Given the description of an element on the screen output the (x, y) to click on. 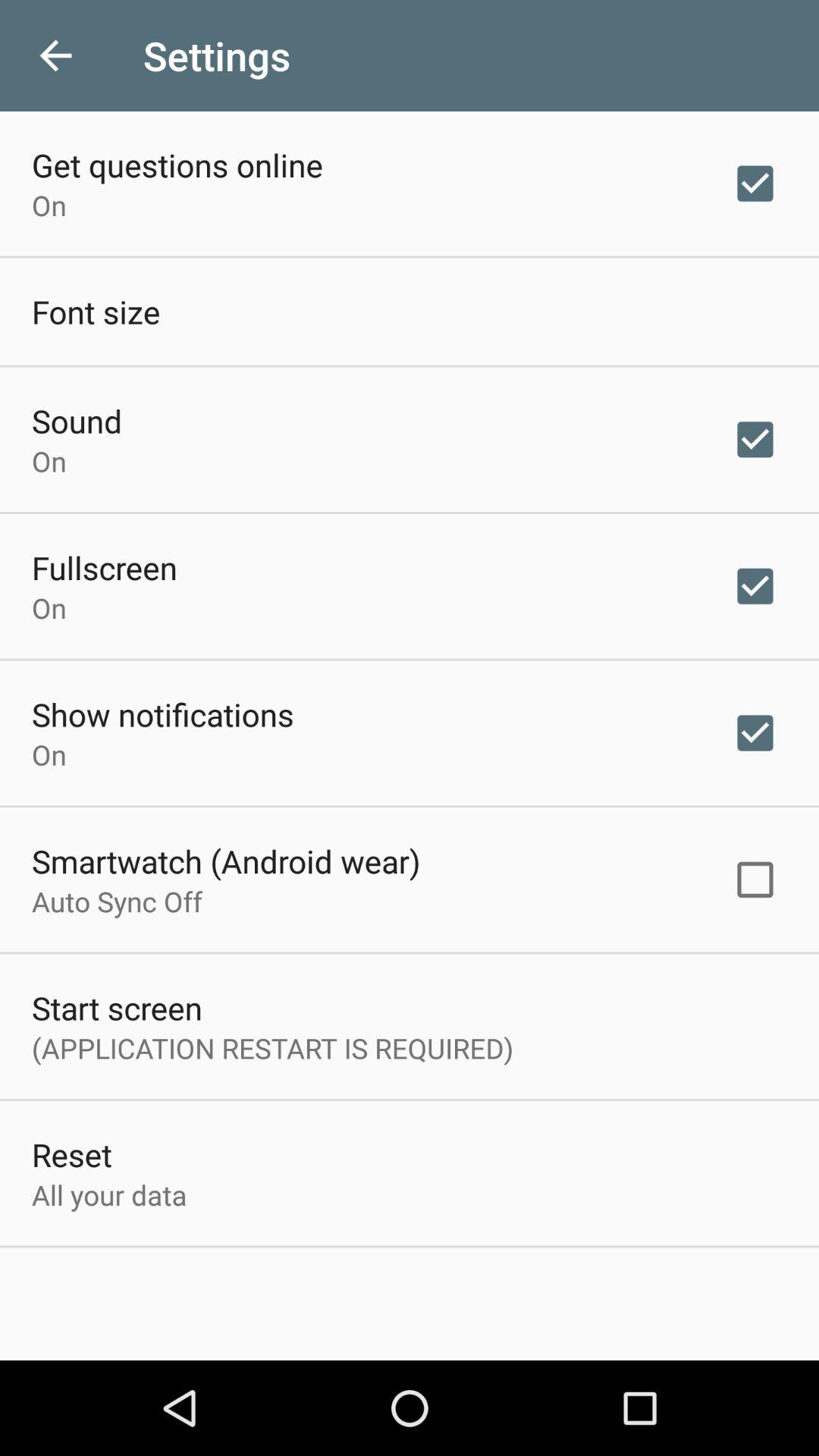
jump to reset item (71, 1154)
